Given the description of an element on the screen output the (x, y) to click on. 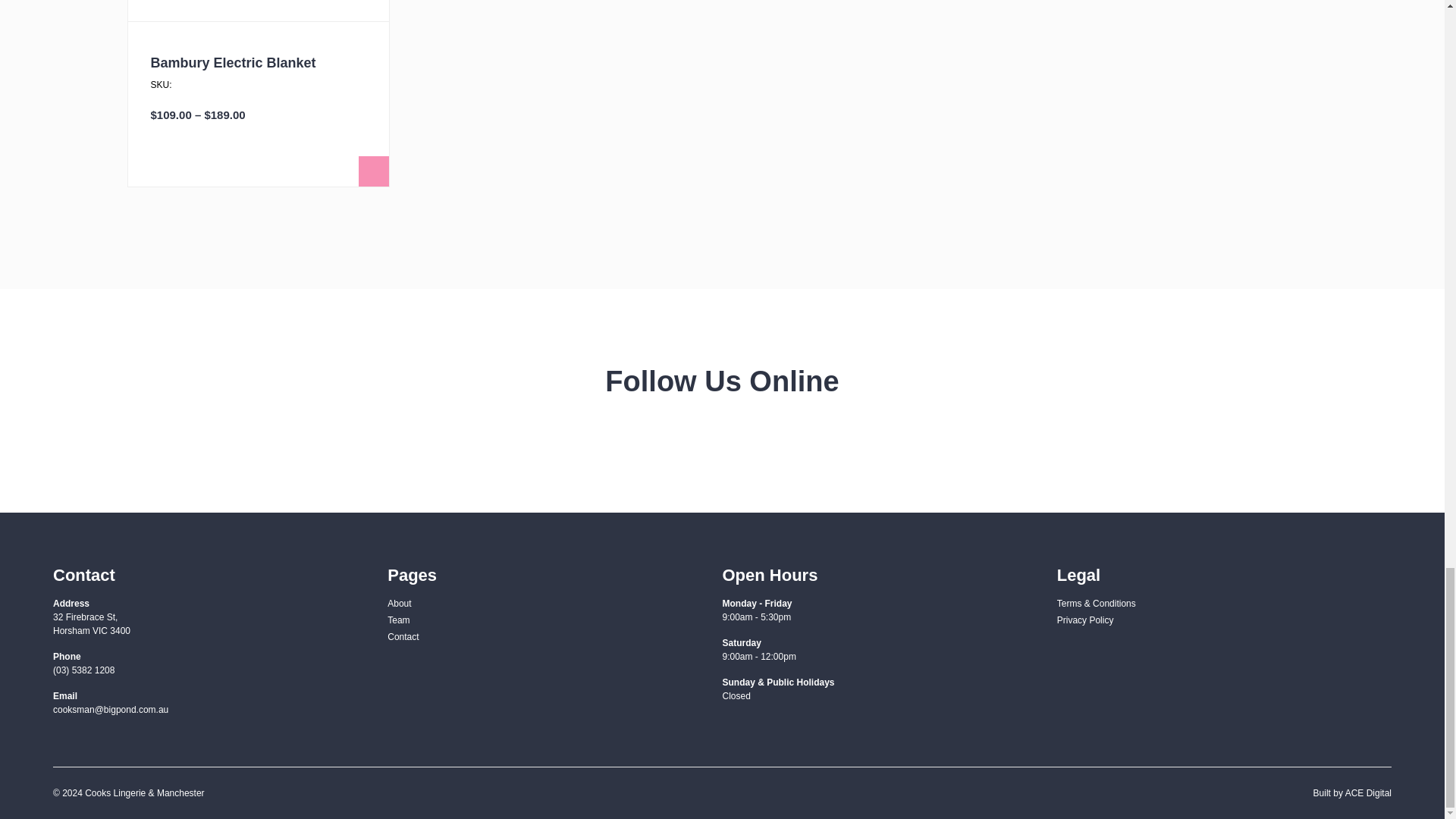
ACE Digital (1368, 792)
Privacy Policy (1085, 620)
Contact (403, 636)
About (398, 603)
Team (398, 620)
